Given the description of an element on the screen output the (x, y) to click on. 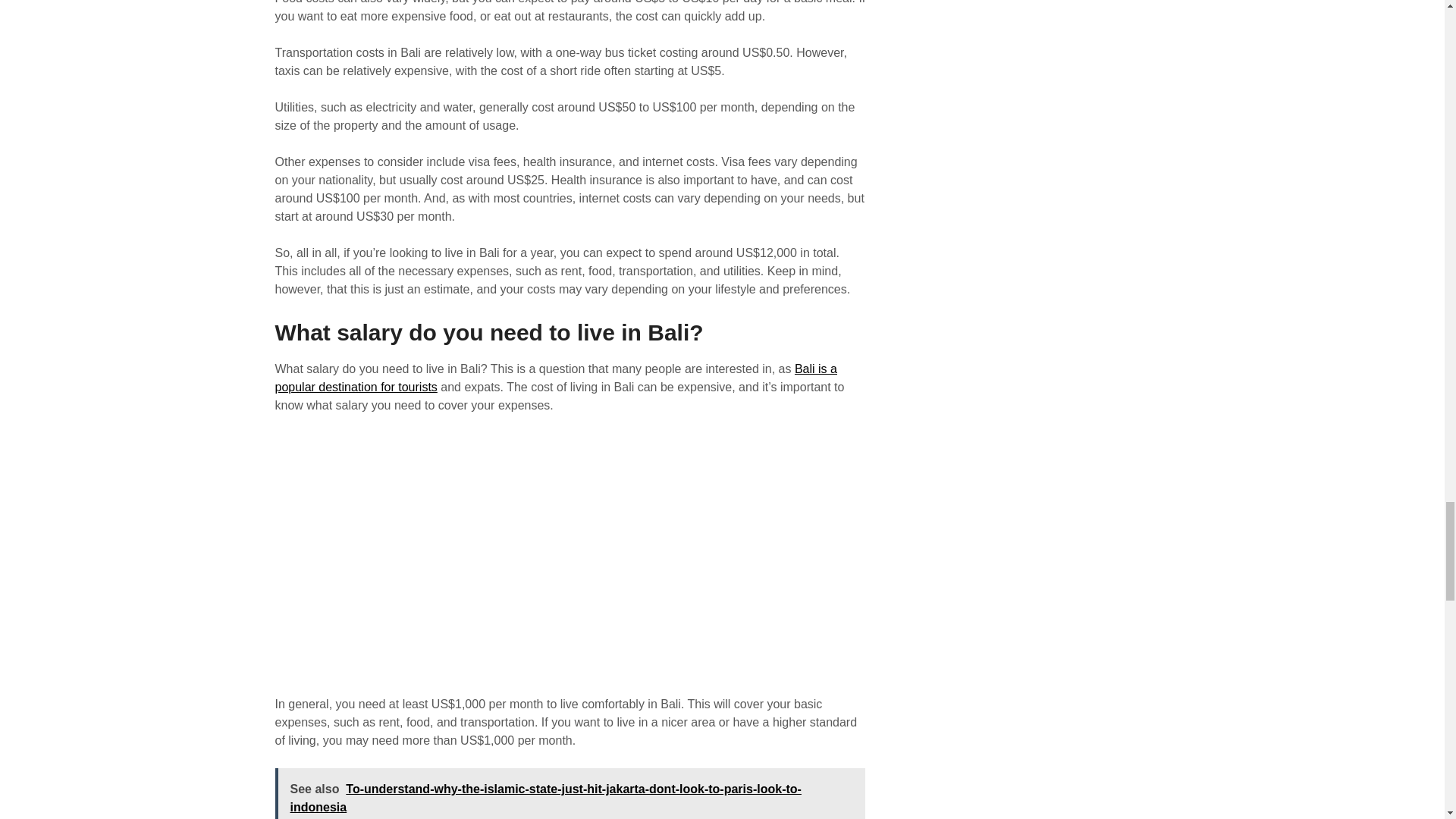
Bali is a popular destination for tourists (555, 377)
